Given the description of an element on the screen output the (x, y) to click on. 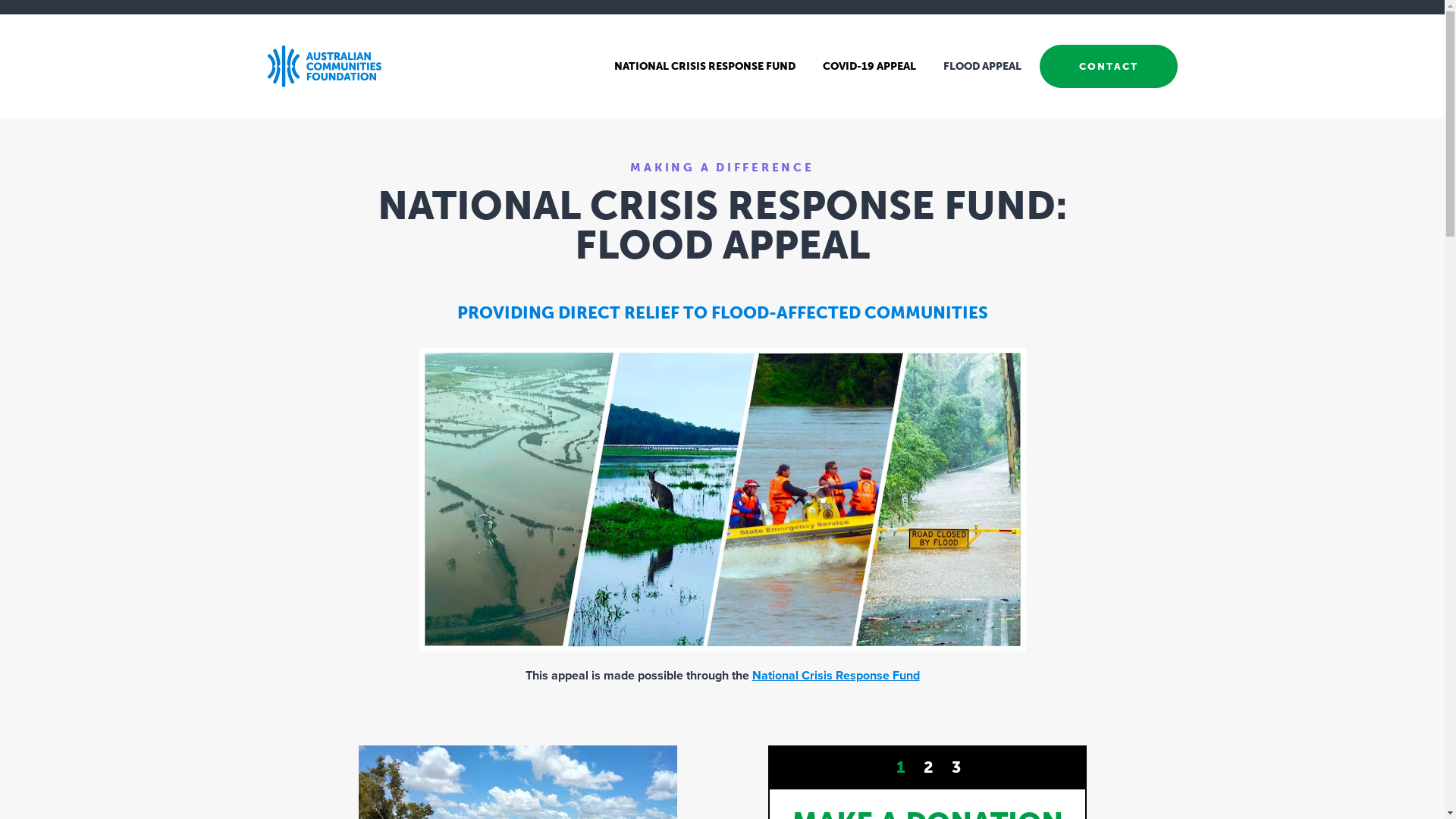
NATIONAL CRISIS RESPONSE FUND Element type: text (704, 65)
CONTACT Element type: text (1107, 65)
National Crisis Response Fund Element type: text (835, 675)
COVID-19 APPEAL Element type: text (868, 65)
FLOOD APPEAL Element type: text (982, 65)
